Given the description of an element on the screen output the (x, y) to click on. 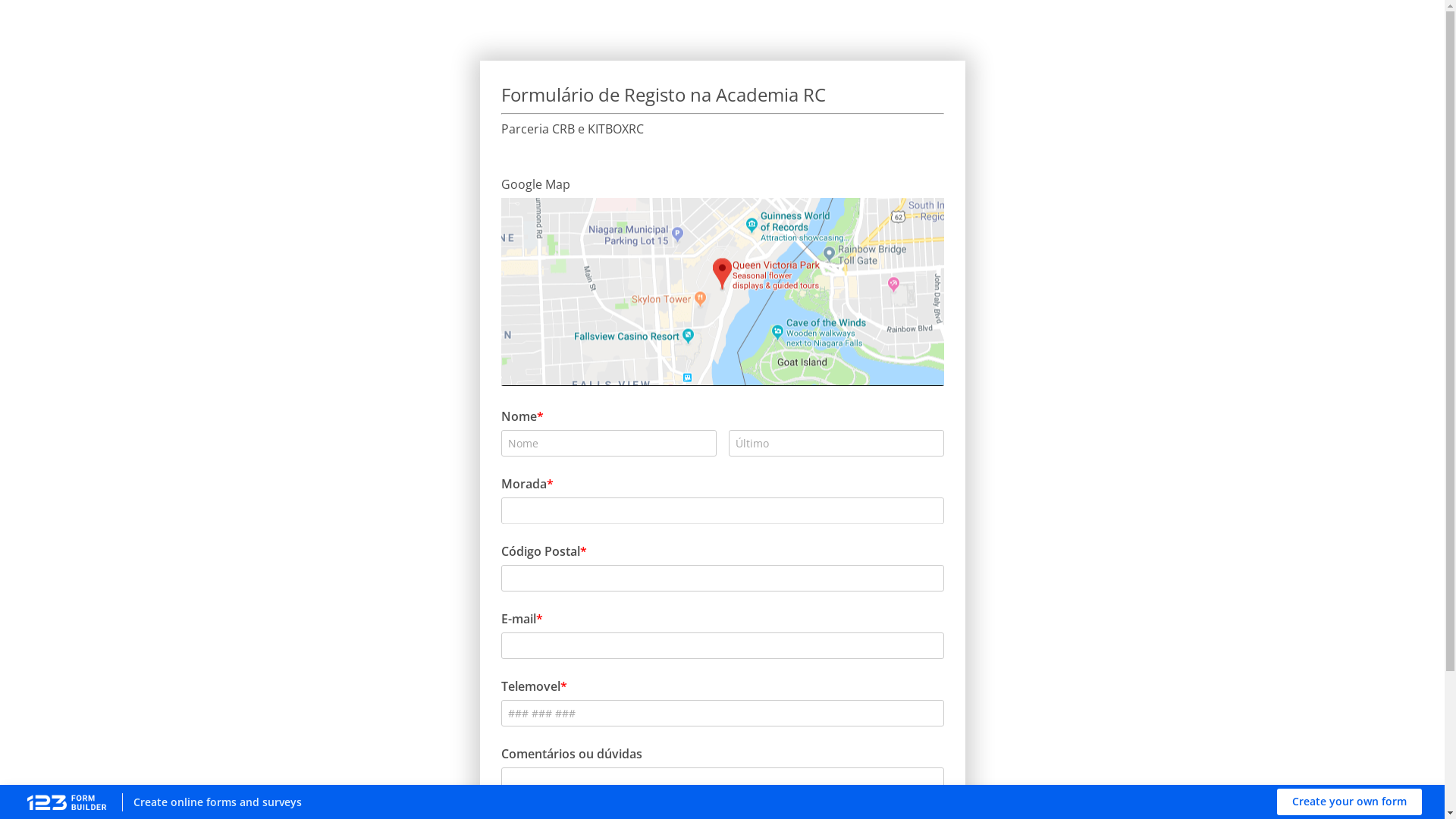
Create your own form Element type: text (1349, 801)
